Given the description of an element on the screen output the (x, y) to click on. 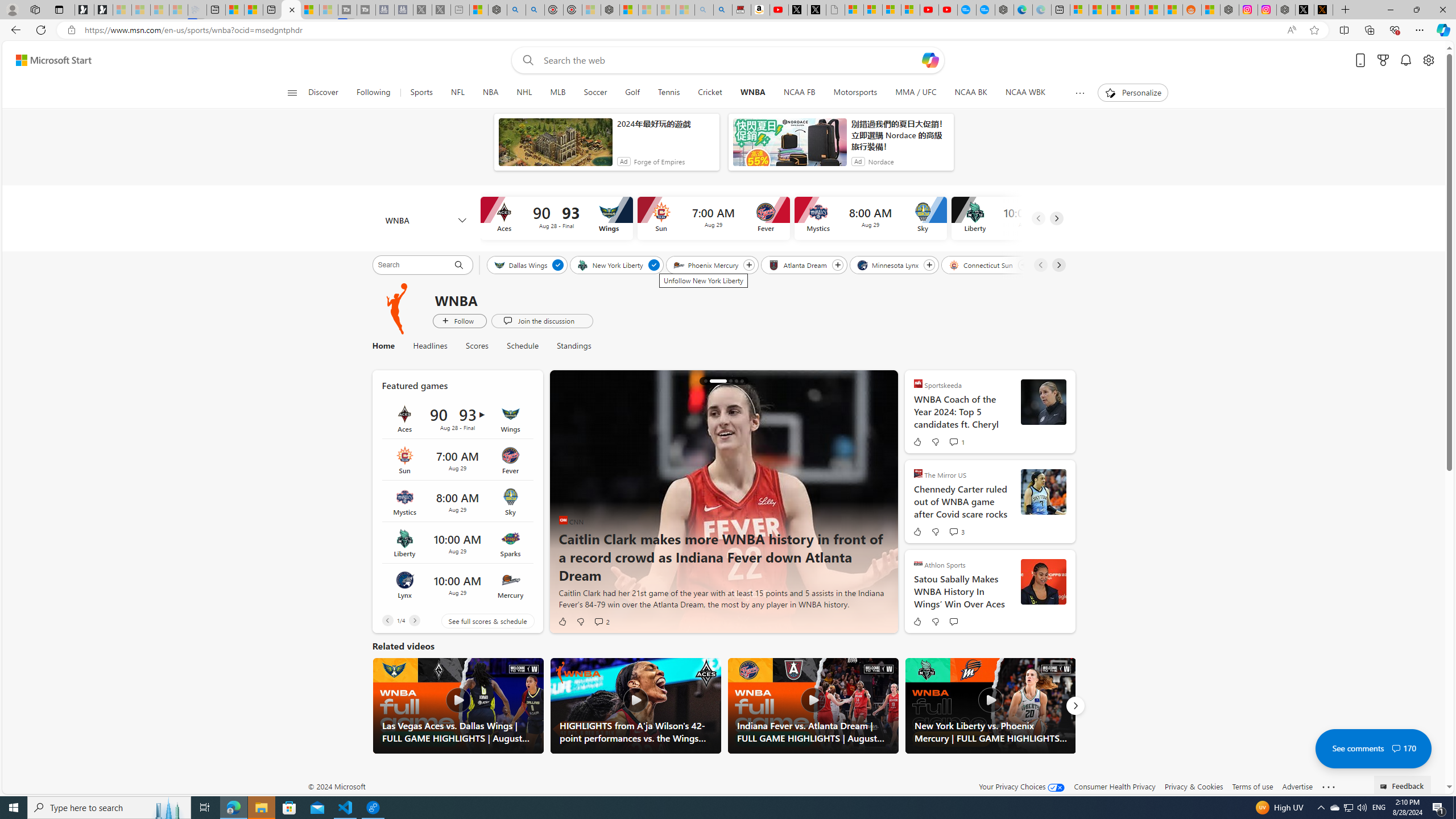
Nordace - Nordace Siena Is Not An Ordinary Backpack (609, 9)
NFL (456, 92)
View comments 2 Comment (601, 621)
Shanghai, China hourly forecast | Microsoft Weather (1116, 9)
anim-content (789, 146)
MLB (557, 92)
previous (565, 501)
Class: around-the-league-card (456, 584)
Skip to content (49, 59)
Notifications (1405, 60)
